Given the description of an element on the screen output the (x, y) to click on. 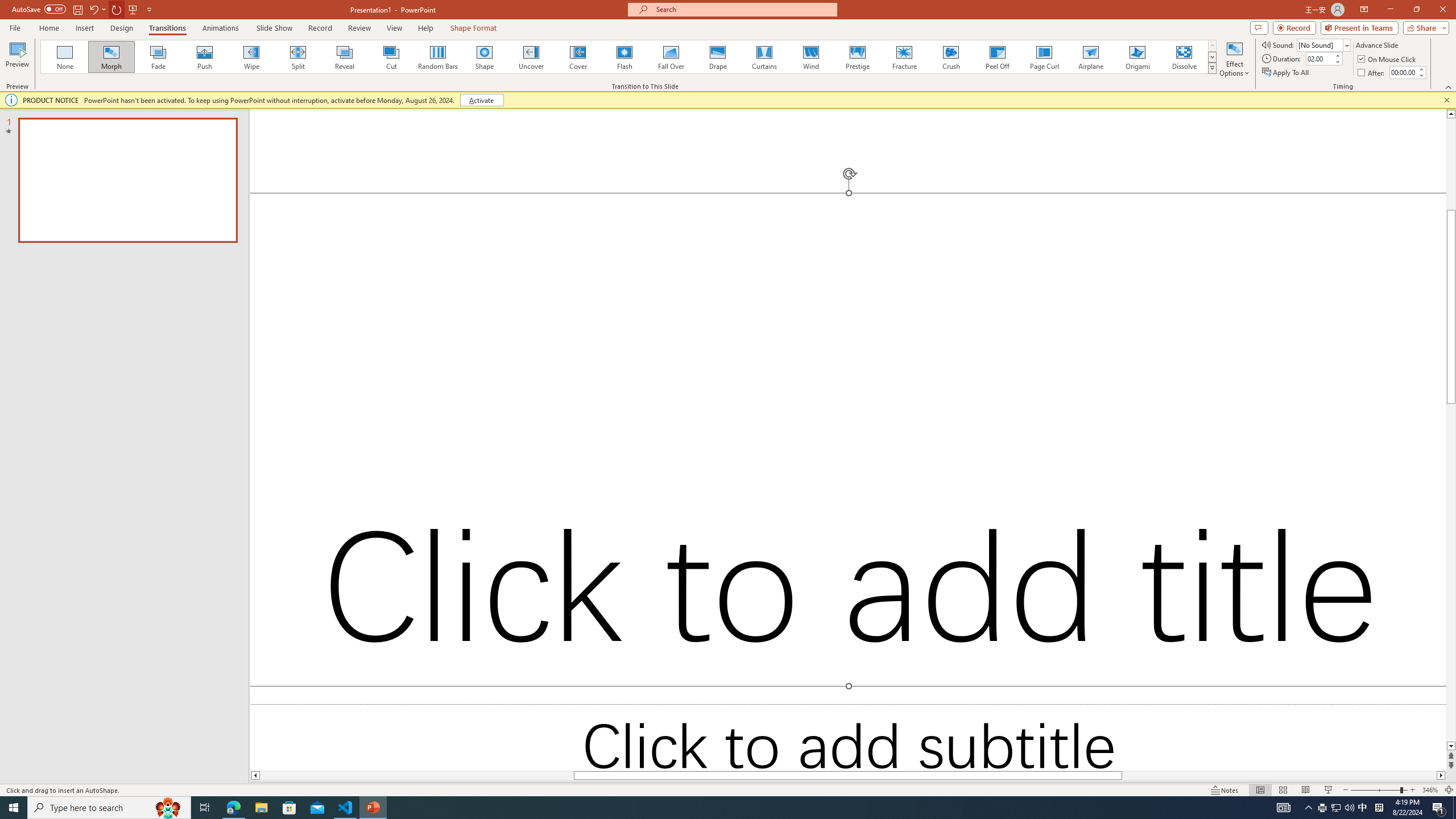
Open (1345, 44)
Airplane (1090, 56)
Uncover (531, 56)
Fade (158, 56)
Microsoft search (742, 9)
